Given the description of an element on the screen output the (x, y) to click on. 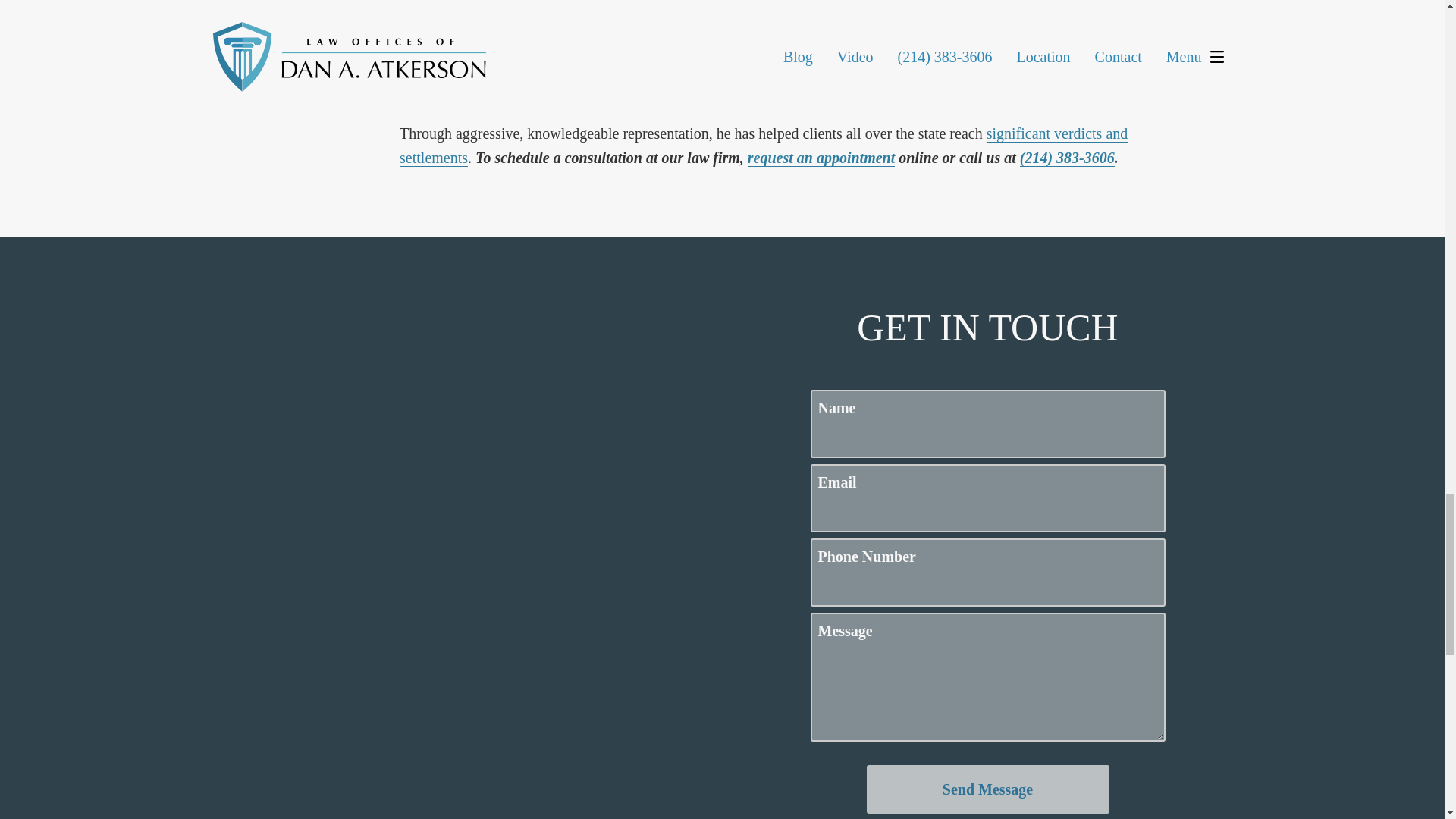
request an appointment (821, 158)
Send Message (987, 789)
significant verdicts and settlements (762, 146)
